Given the description of an element on the screen output the (x, y) to click on. 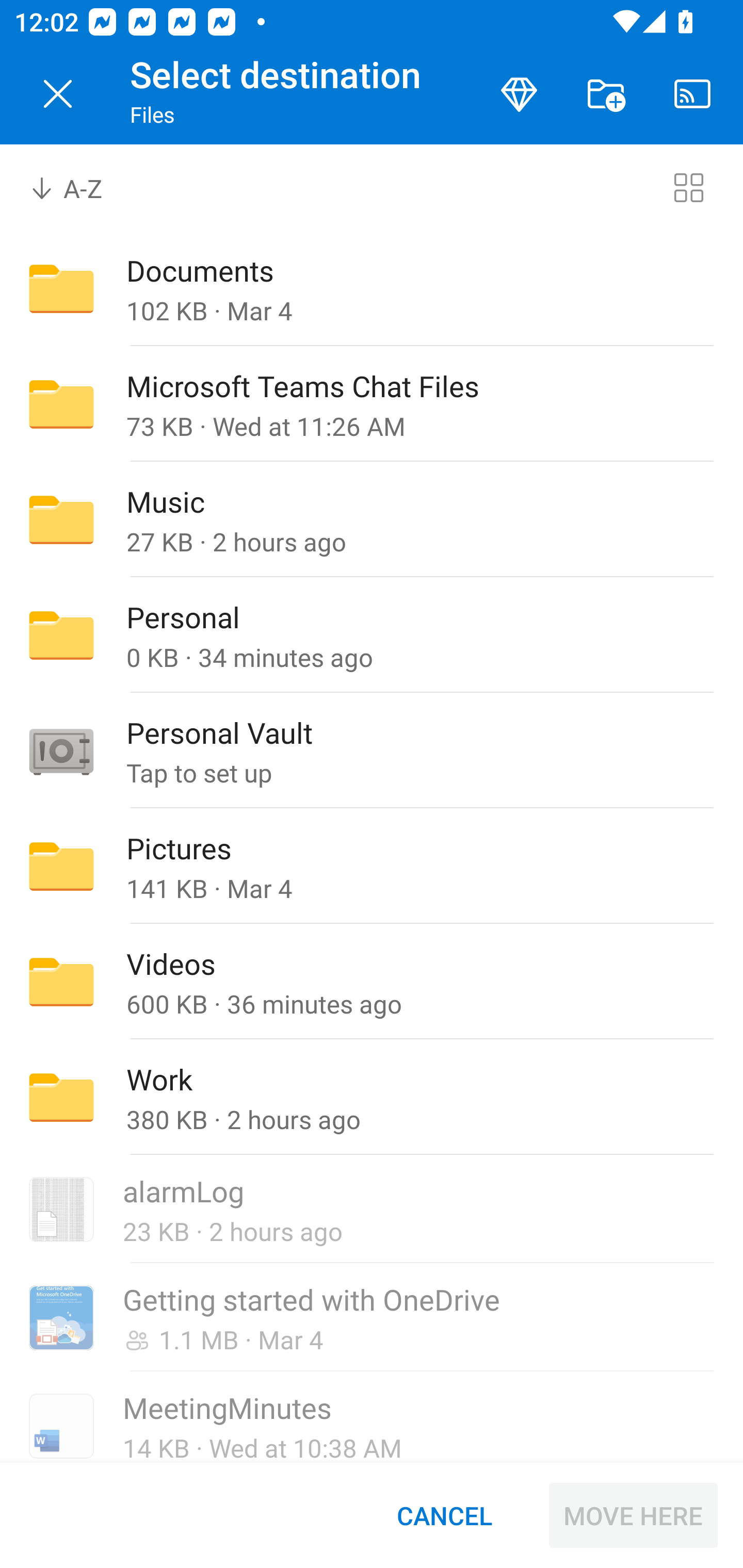
Close (57, 93)
Cast. Disconnected (692, 93)
Premium button (518, 93)
More actions button (605, 93)
A-Z Sort by combo box, sort by name, A to Z (80, 187)
Switch to tiles view (688, 187)
Folder Documents 102 KB · Mar 4 (371, 288)
Folder Music 27 KB · 2 hours ago (371, 519)
Folder Personal 0 KB · 34 minutes ago (371, 635)
Folder Personal Vault Tap to set up (371, 751)
Folder Pictures 141 KB · Mar 4 (371, 866)
Folder Videos 600 KB · 36 minutes ago (371, 981)
Folder Work 380 KB · 2 hours ago (371, 1097)
Document alarmLog 23 KB · 2 hours ago (371, 1209)
CANCEL (443, 1515)
MOVE HERE (633, 1515)
